Given the description of an element on the screen output the (x, y) to click on. 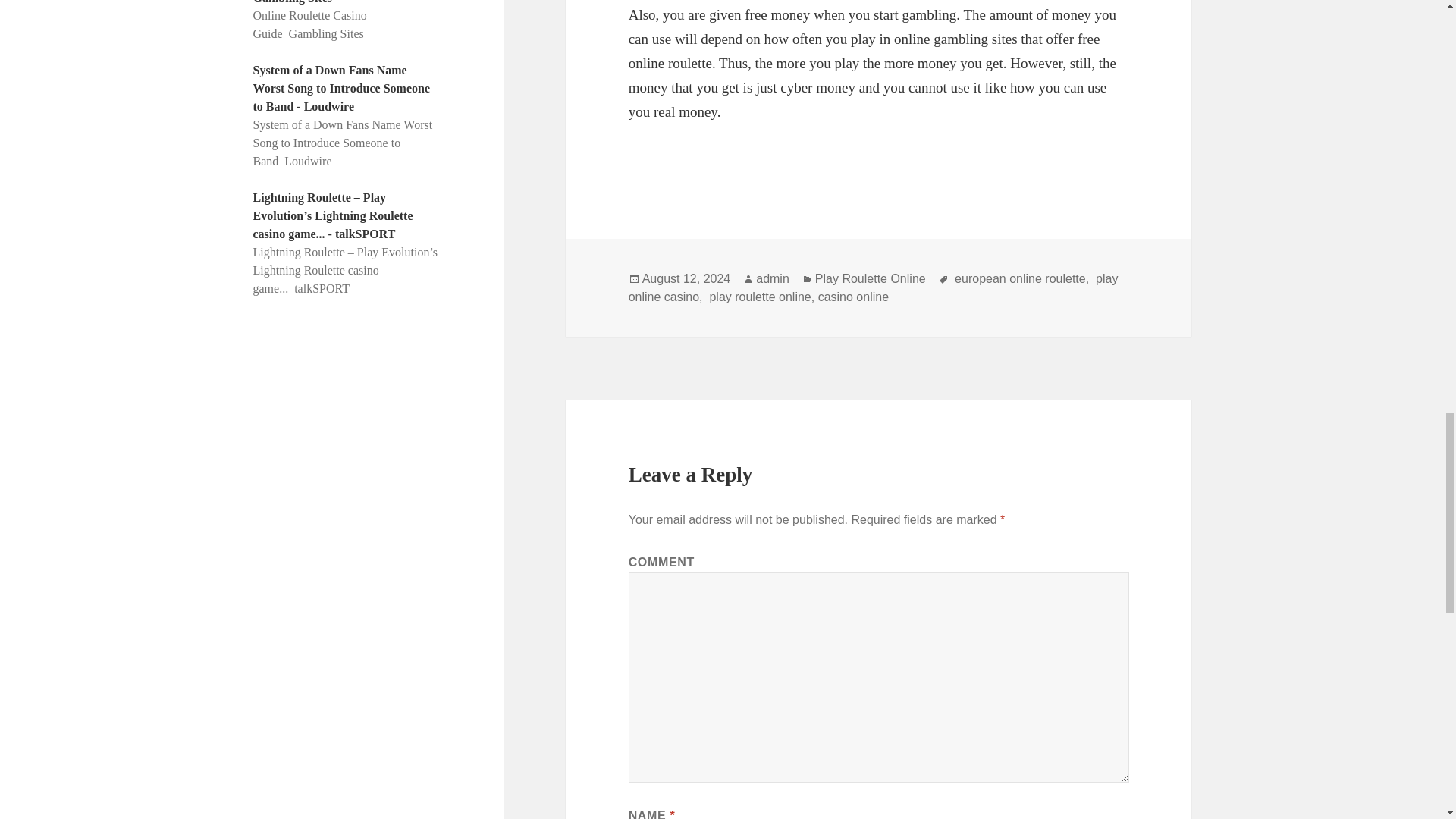
admin (772, 278)
August 12, 2024 (686, 278)
Play Roulette Online (870, 278)
casino online (853, 296)
 european online roulette (1019, 278)
 play roulette online (758, 296)
Online Roulette Casino Guide - Gambling Sites (333, 2)
 play online casino (873, 287)
